Given the description of an element on the screen output the (x, y) to click on. 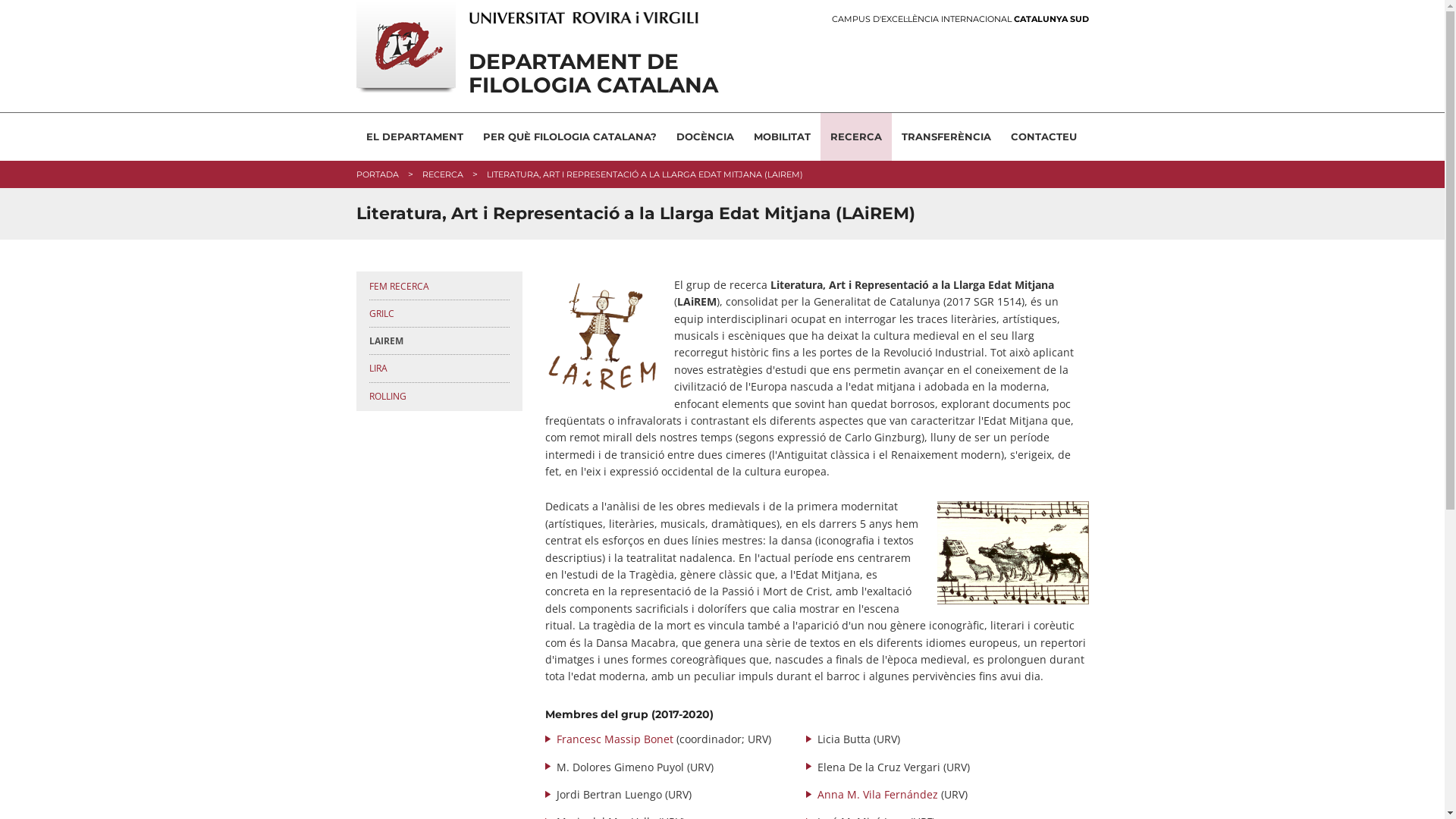
PORTADA Element type: text (377, 174)
MOBILITAT Element type: text (781, 136)
FEM RECERCA Element type: text (438, 286)
RECERCA Element type: text (441, 174)
EL DEPARTAMENT Element type: text (414, 136)
LAIREM Element type: text (438, 340)
CONTACTEU Element type: text (1043, 136)
RECERCA Element type: text (855, 136)
Francesc Massip Bonet Element type: text (614, 738)
GRILC Element type: text (438, 313)
ROLLING Element type: text (438, 396)
DEPARTAMENT DE FILOLOGIA CATALANA Element type: text (628, 73)
LIRA Element type: text (438, 367)
